Given the description of an element on the screen output the (x, y) to click on. 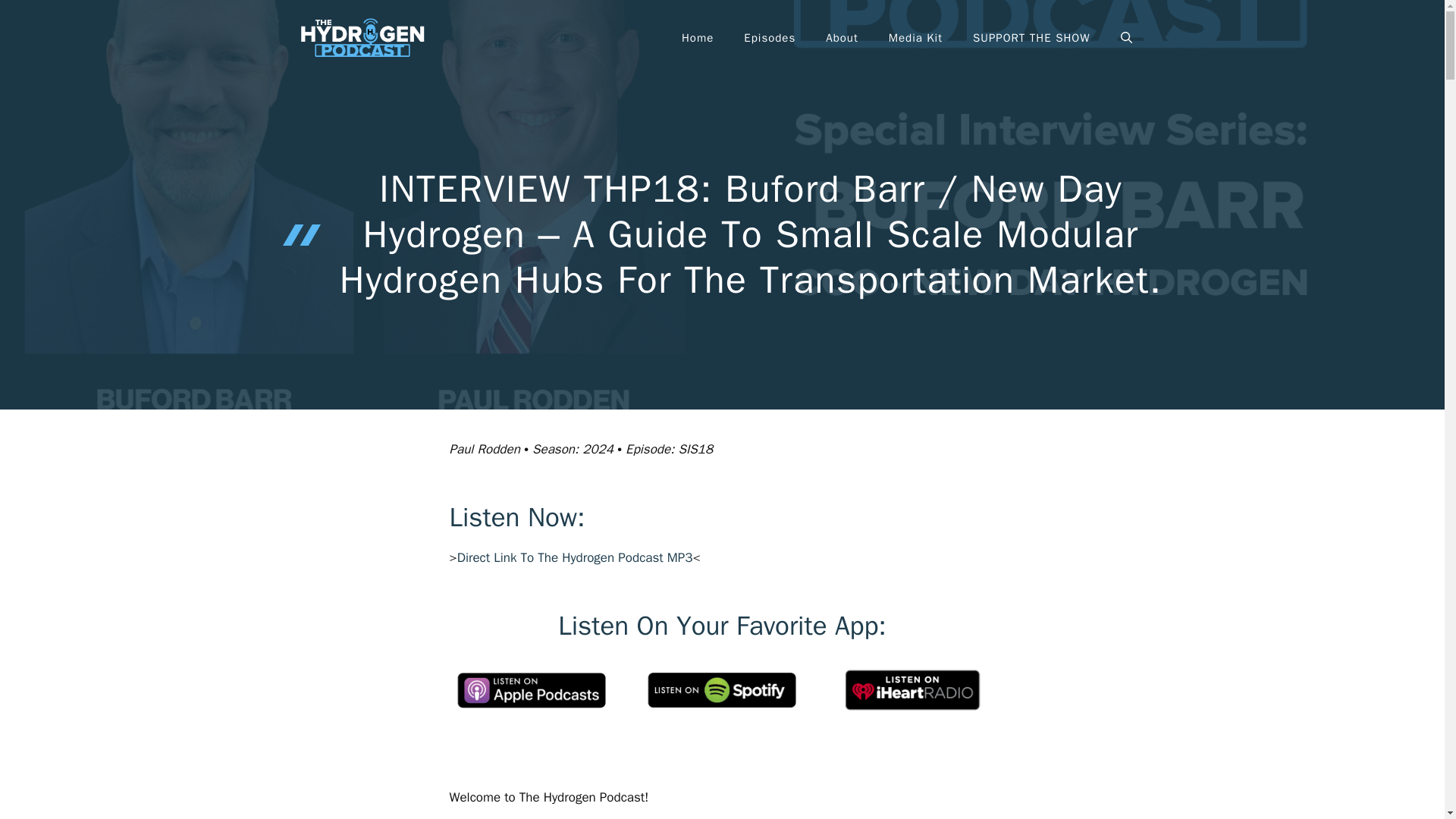
Home (697, 37)
Media Kit (915, 37)
Direct Link To The Hydrogen Podcast MP3 (575, 557)
Episodes (769, 37)
SUPPORT THE SHOW (1031, 37)
About (841, 37)
